Given the description of an element on the screen output the (x, y) to click on. 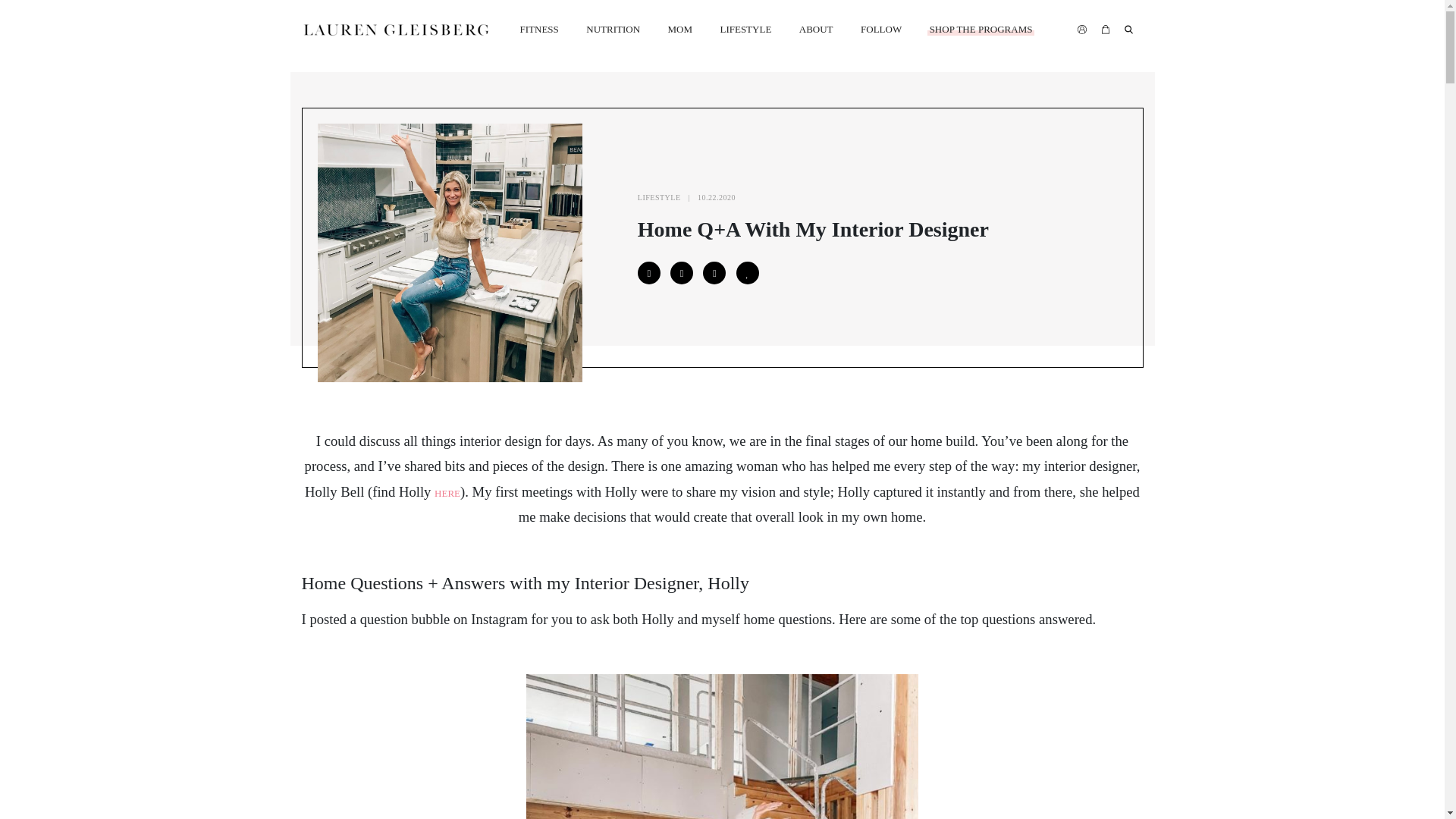
FITNESS (538, 29)
FOLLOW (881, 29)
NUTRITION (612, 29)
Search (26, 14)
MOM (679, 29)
LIFESTYLE (745, 29)
ABOUT (815, 29)
